Given the description of an element on the screen output the (x, y) to click on. 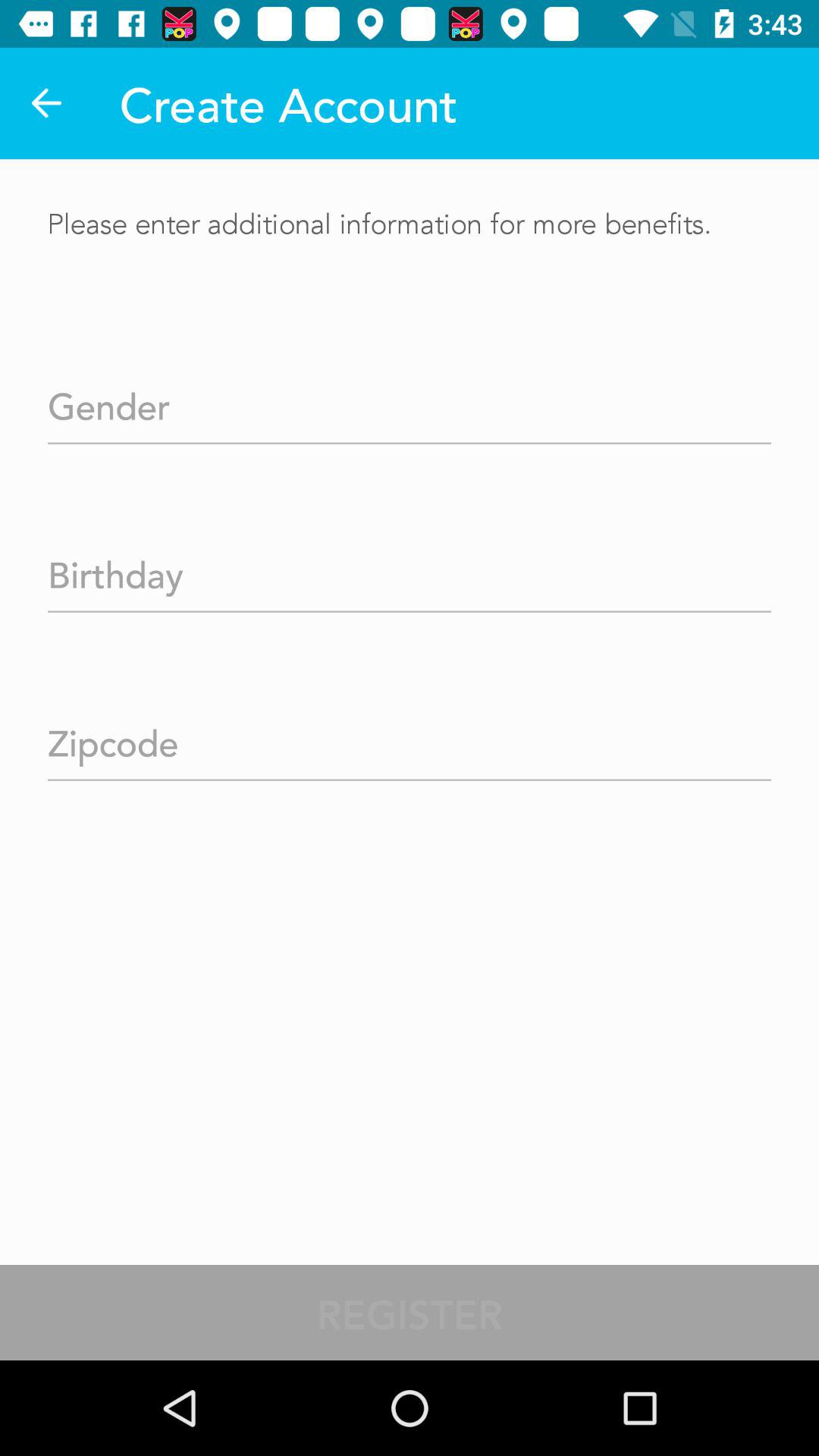
enter your zip code (409, 738)
